Given the description of an element on the screen output the (x, y) to click on. 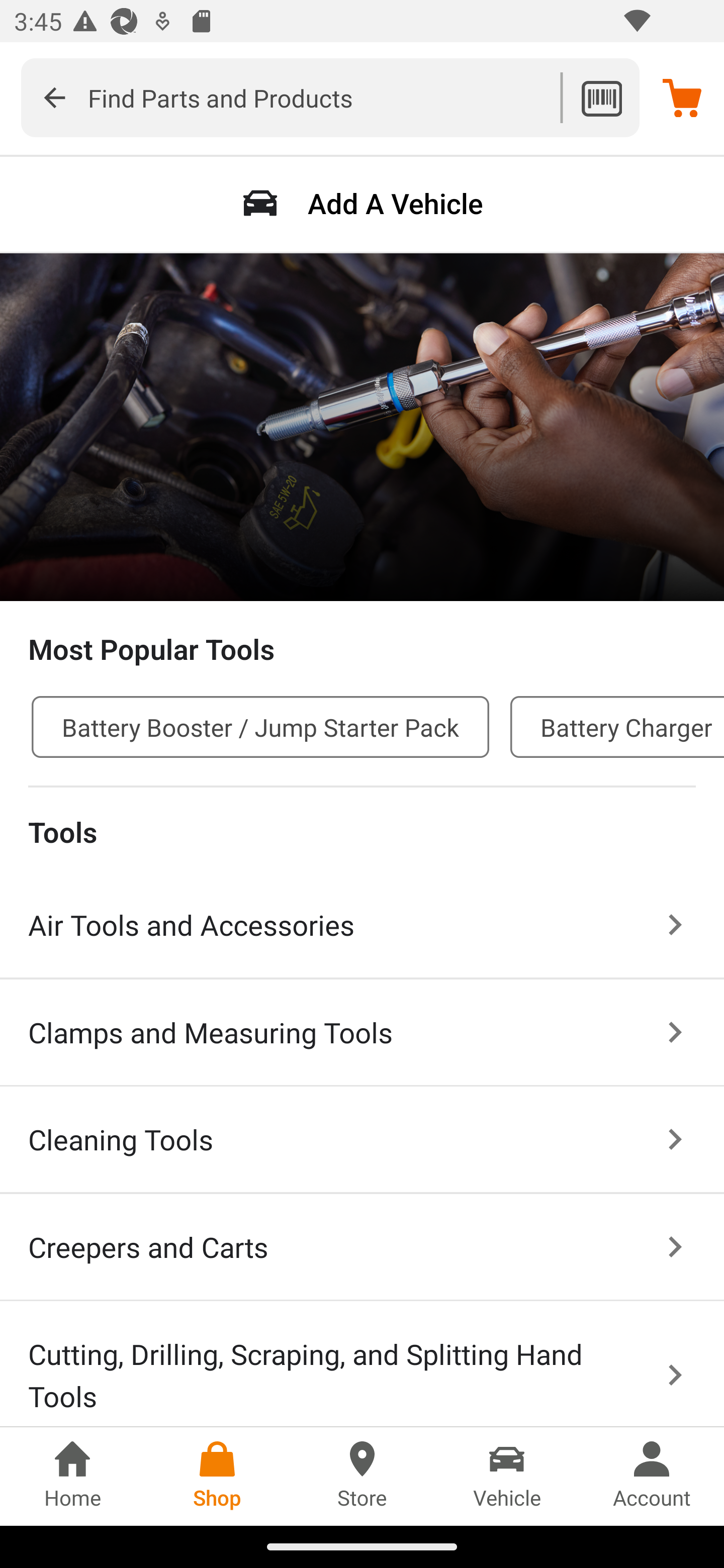
 scan-product-to-search  (601, 97)
 (54, 97)
Cart, no items  (681, 97)
add-vehicle-button  Add A Vehicle (362, 202)
Battery Booster / Jump Starter Pack (260, 726)
Battery Charger (617, 726)
Cleaning Tools category Cleaning Tools  (362, 1140)
Creepers and Carts category Creepers and Carts  (362, 1247)
Home (72, 1475)
Shop (216, 1475)
Store (361, 1475)
Vehicle (506, 1475)
Account (651, 1475)
